Given the description of an element on the screen output the (x, y) to click on. 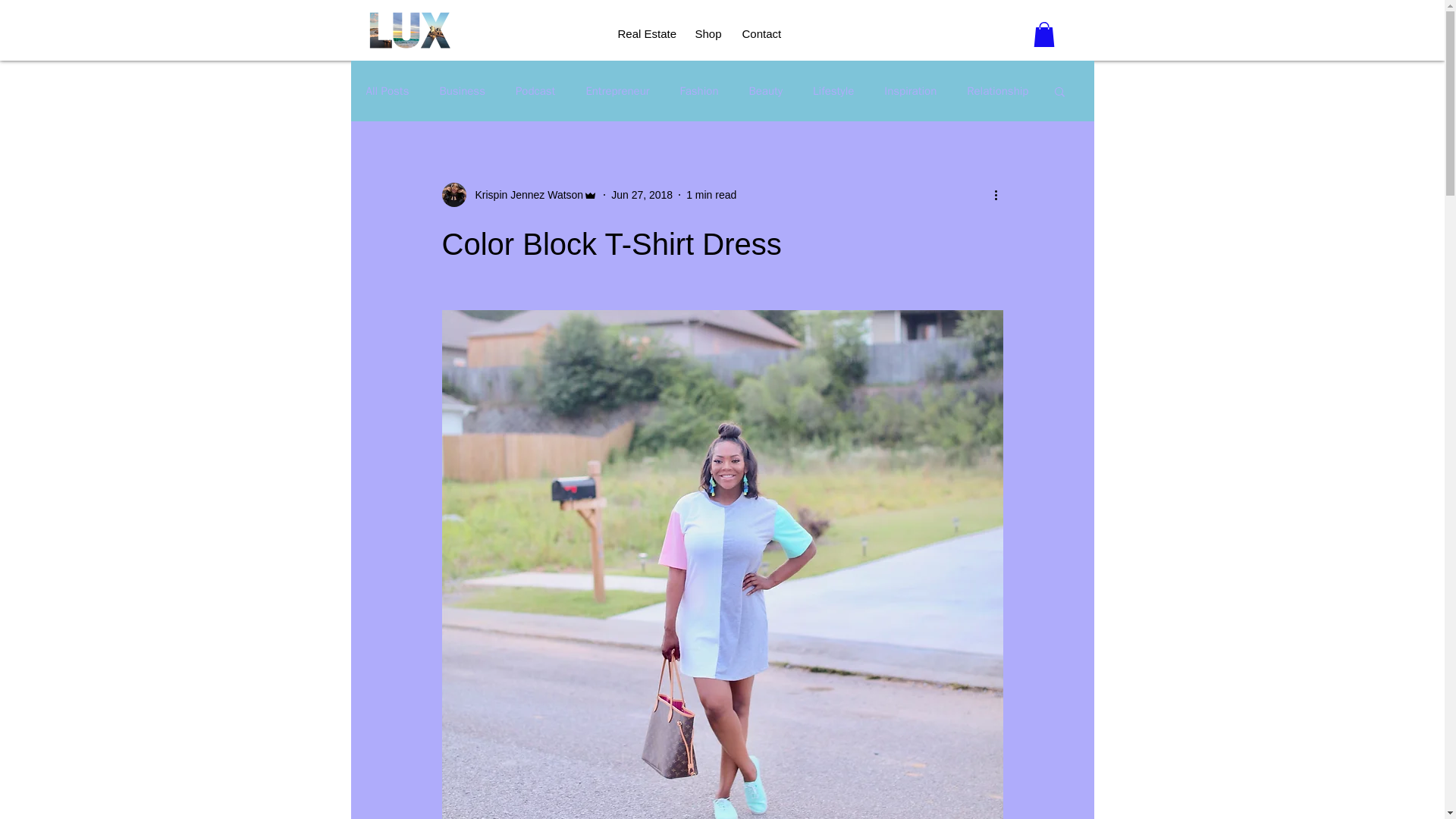
Beauty (765, 91)
Shop (707, 33)
Business (461, 91)
Relationship (996, 91)
1 min read (710, 194)
Inspiration (909, 91)
Real Estate (645, 33)
Fashion (699, 91)
Krispin Jennez Watson (524, 195)
Podcast (534, 91)
Contact (761, 33)
Lifestyle (832, 91)
Entrepreneur (617, 91)
Krispin Jennez Watson (518, 194)
Jun 27, 2018 (641, 194)
